Given the description of an element on the screen output the (x, y) to click on. 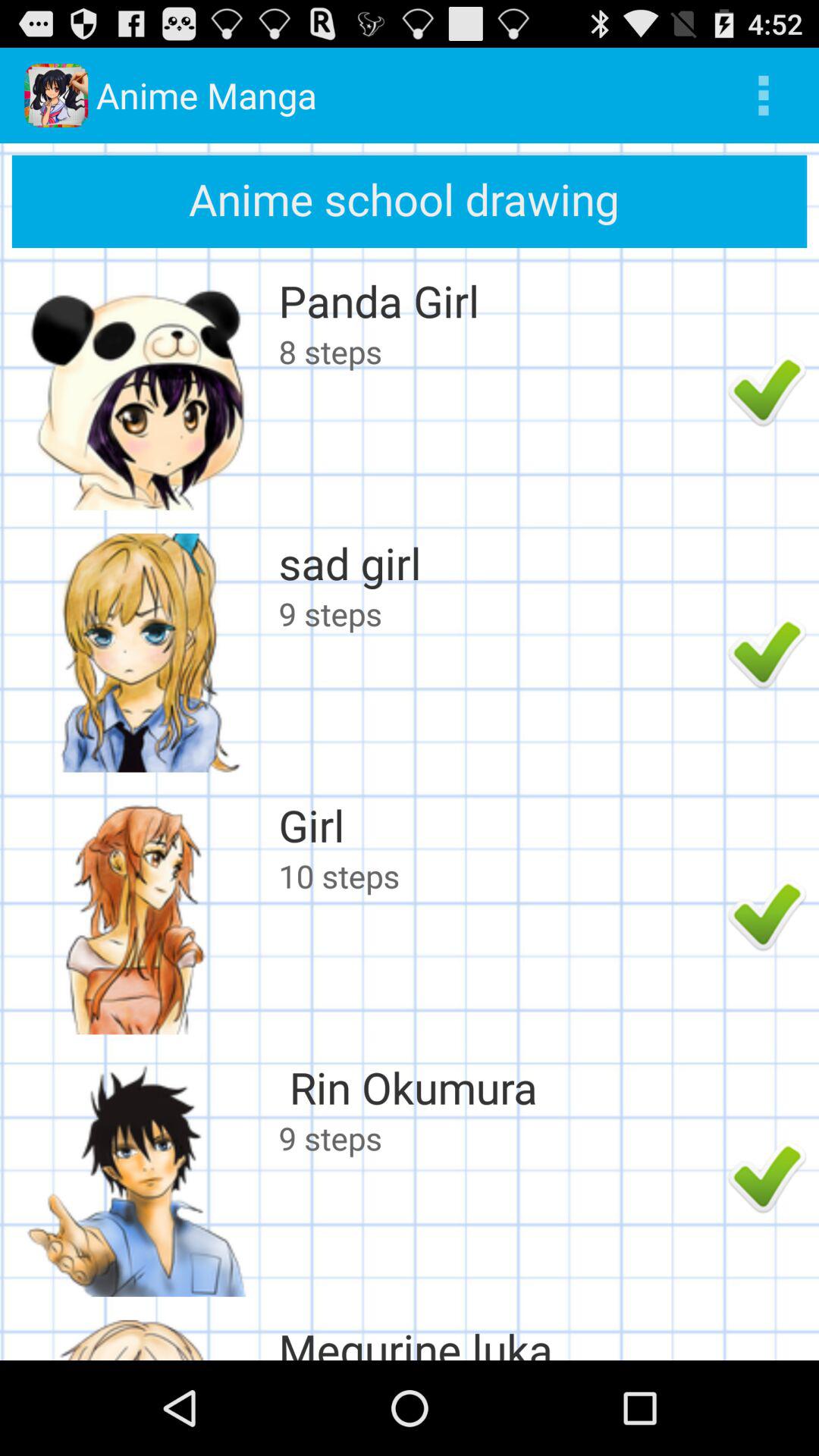
turn off the item above the 8 steps item (498, 300)
